Given the description of an element on the screen output the (x, y) to click on. 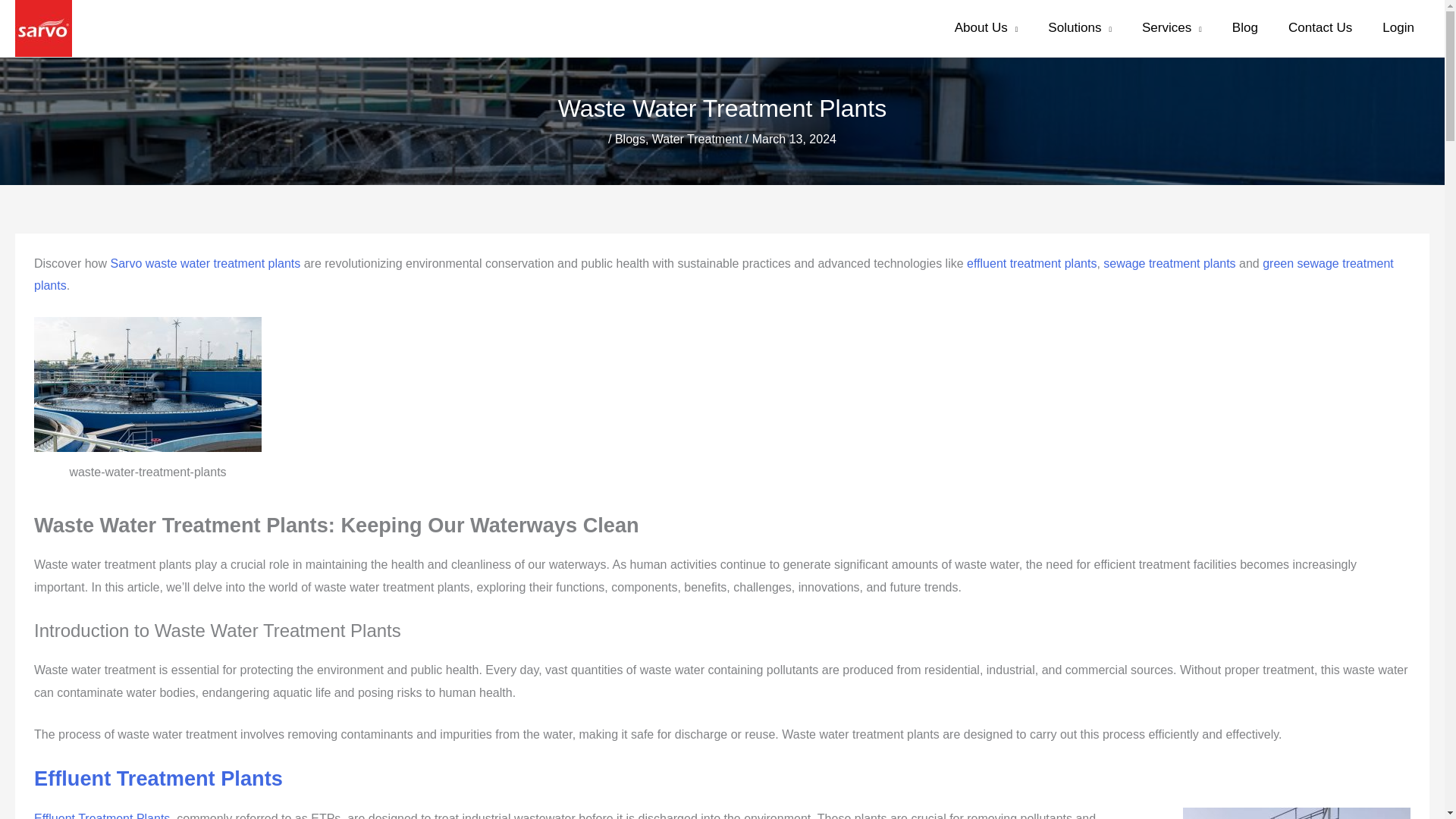
Solutions (1079, 28)
About Us (986, 28)
effluent treatment plants (1031, 263)
Services (1171, 28)
sewage treatment plants (1168, 263)
Water Treatment (697, 138)
Sarvo waste water treatment plants (204, 263)
Blogs (629, 138)
Login (1398, 28)
green sewage treatment plants (713, 274)
